Given the description of an element on the screen output the (x, y) to click on. 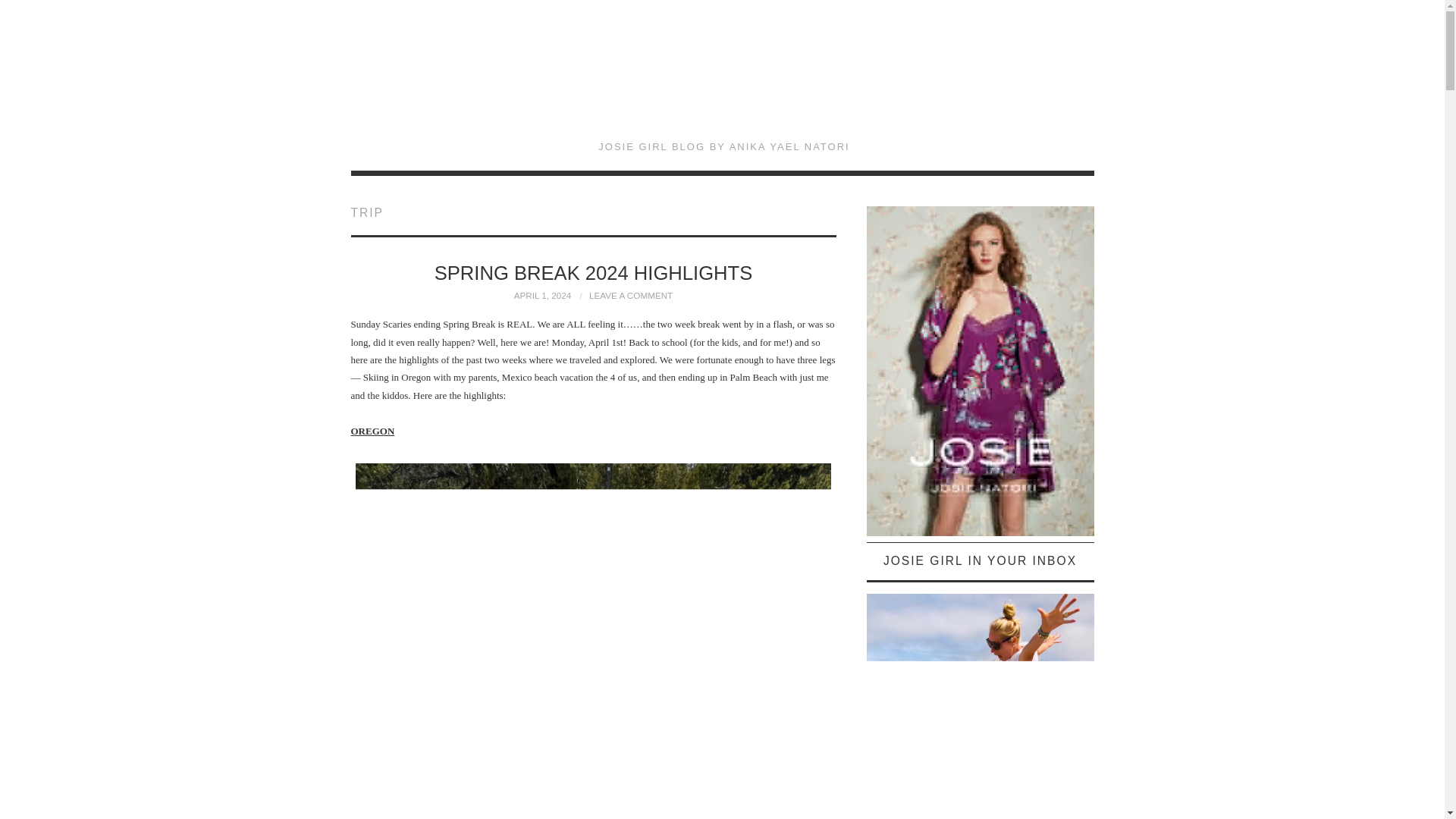
SPRING BREAK 2024 HIGHLIGHTS (592, 272)
LEAVE A COMMENT (630, 295)
JOSIE GIRL BLOG (722, 80)
Josie Girl Blog (722, 80)
APRIL 1, 2024 (542, 295)
